Given the description of an element on the screen output the (x, y) to click on. 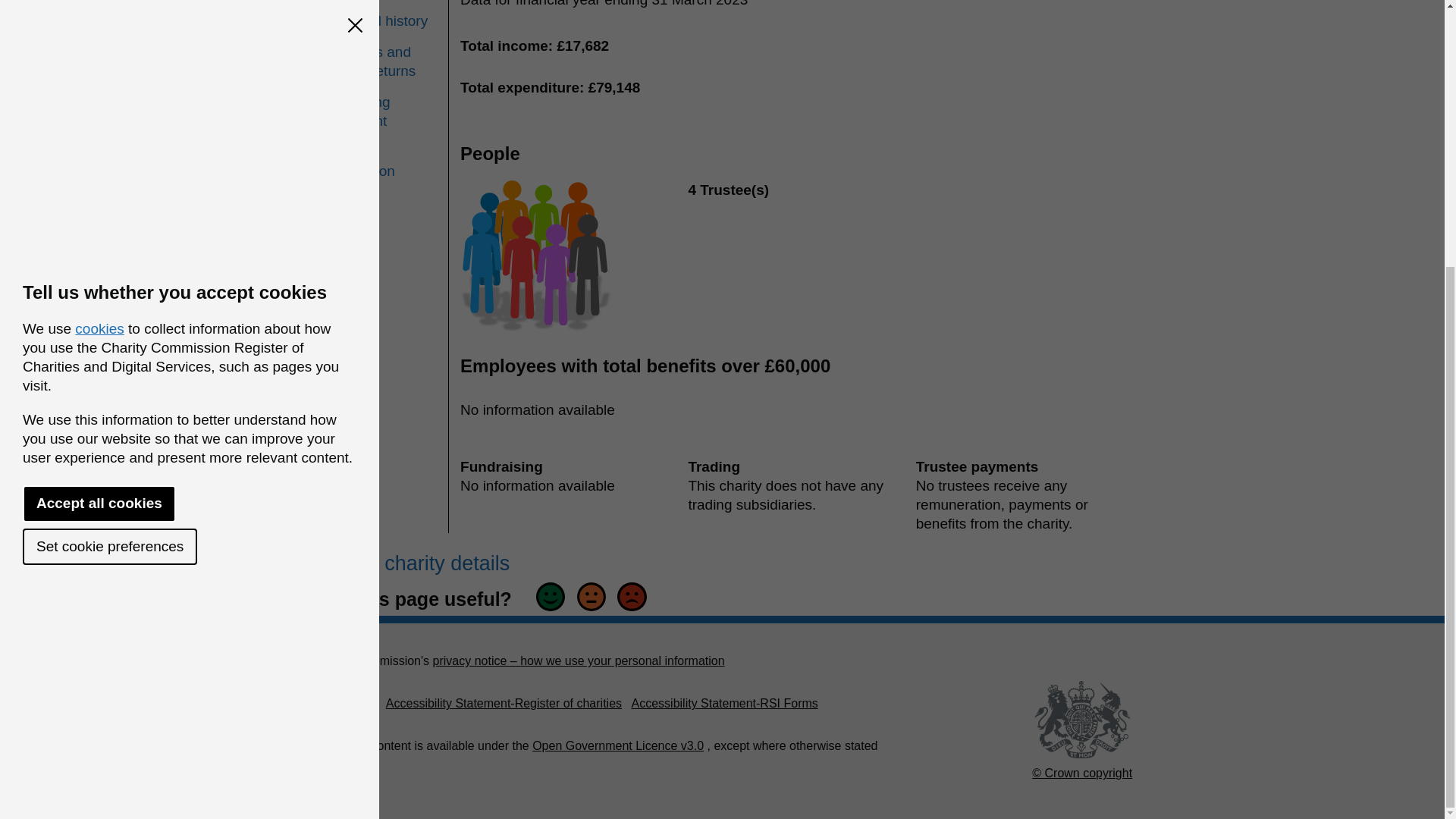
Governing document (379, 111)
Cookies (334, 703)
Accessibility Statement-Register of charities (503, 703)
Financial history (379, 20)
Contact information (379, 161)
Open Government Licence v3.0 (617, 745)
Print charity details (416, 563)
Accessibility Statement-RSI Forms (723, 703)
Accounts and annual returns (379, 61)
Set cookie preferences (109, 159)
